Given the description of an element on the screen output the (x, y) to click on. 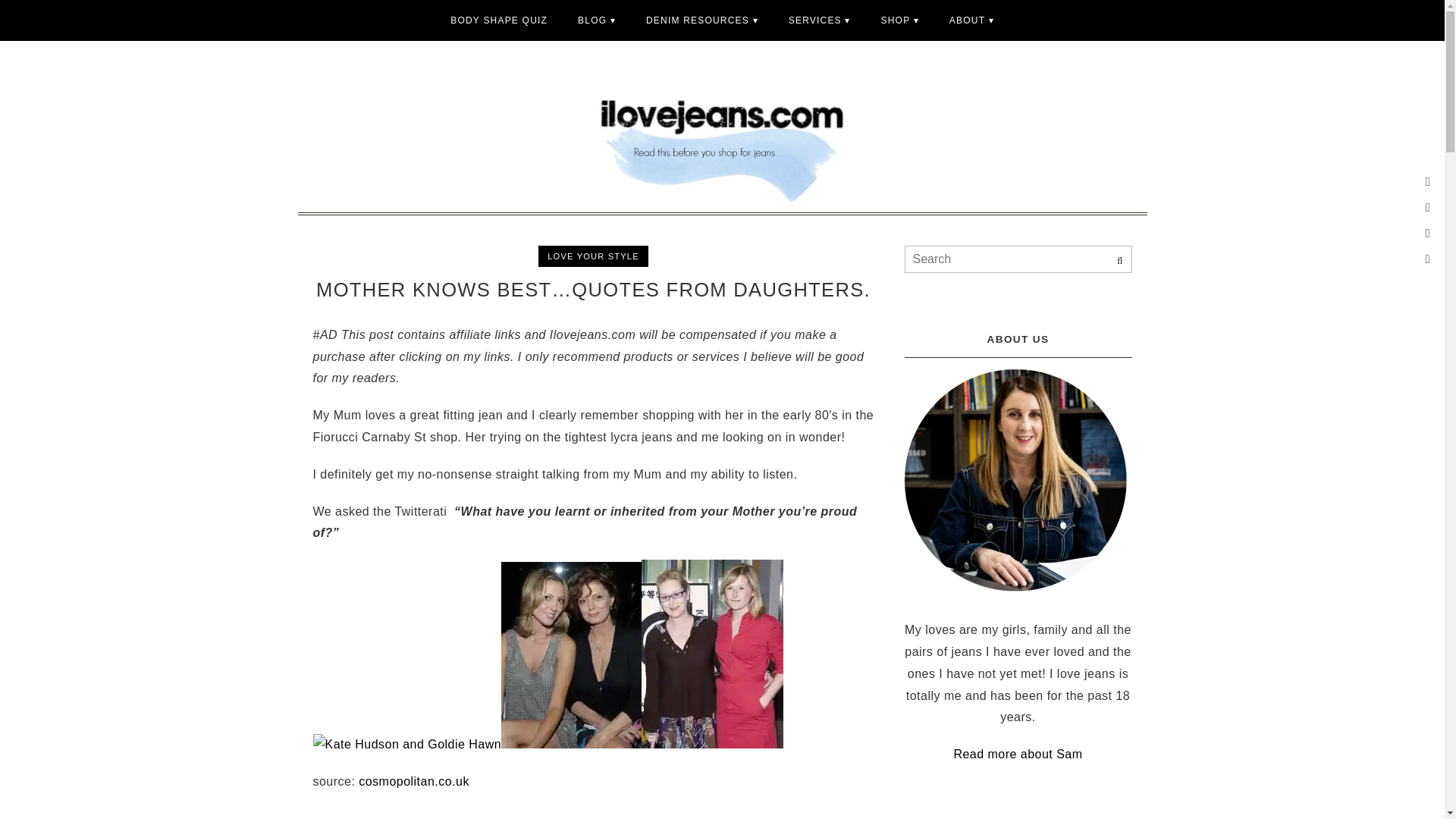
ABOUT (971, 20)
Kate Hudson and Goldie Hawn (406, 744)
DENIM RESOURCES (701, 20)
Famous mothers and daughters (413, 780)
About Us (971, 20)
SHOP (900, 20)
BLOG (596, 20)
SERVICES (819, 20)
ilovejeans.com (721, 135)
BODY SHAPE QUIZ (498, 20)
